Given the description of an element on the screen output the (x, y) to click on. 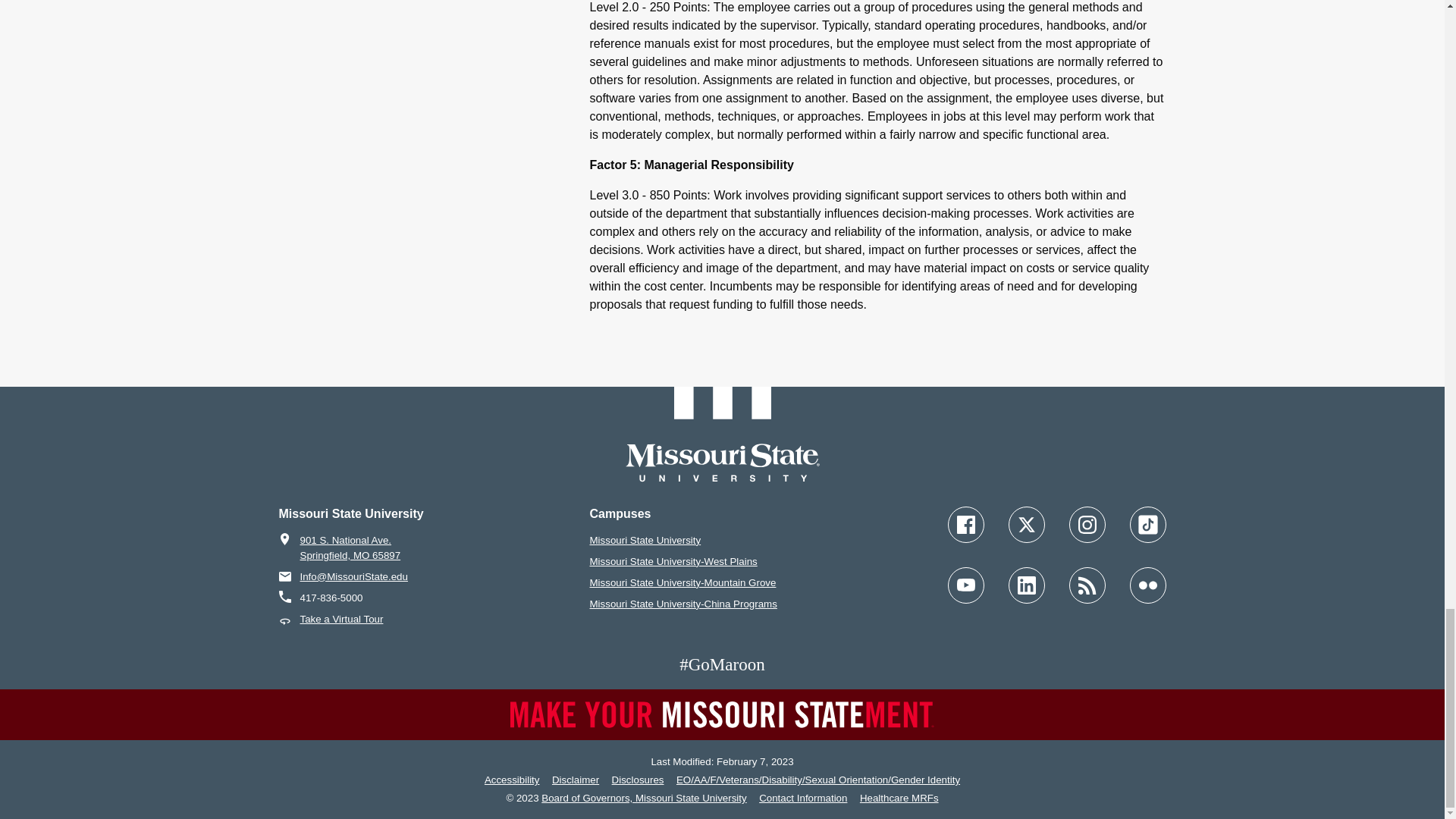
Follow Missouri State on LinkedIn (1027, 584)
Follow Missouri State on Facebook (965, 524)
Follow Missouri State on YouTube (965, 584)
Follow Missouri State on X (1027, 524)
Follow Missouri State on TikTok (1147, 524)
Follow Missouri State Blogs (1086, 584)
Follow Missouri State on Instagram (1086, 524)
Follow Missouri State on Flickr (1147, 584)
